Given the description of an element on the screen output the (x, y) to click on. 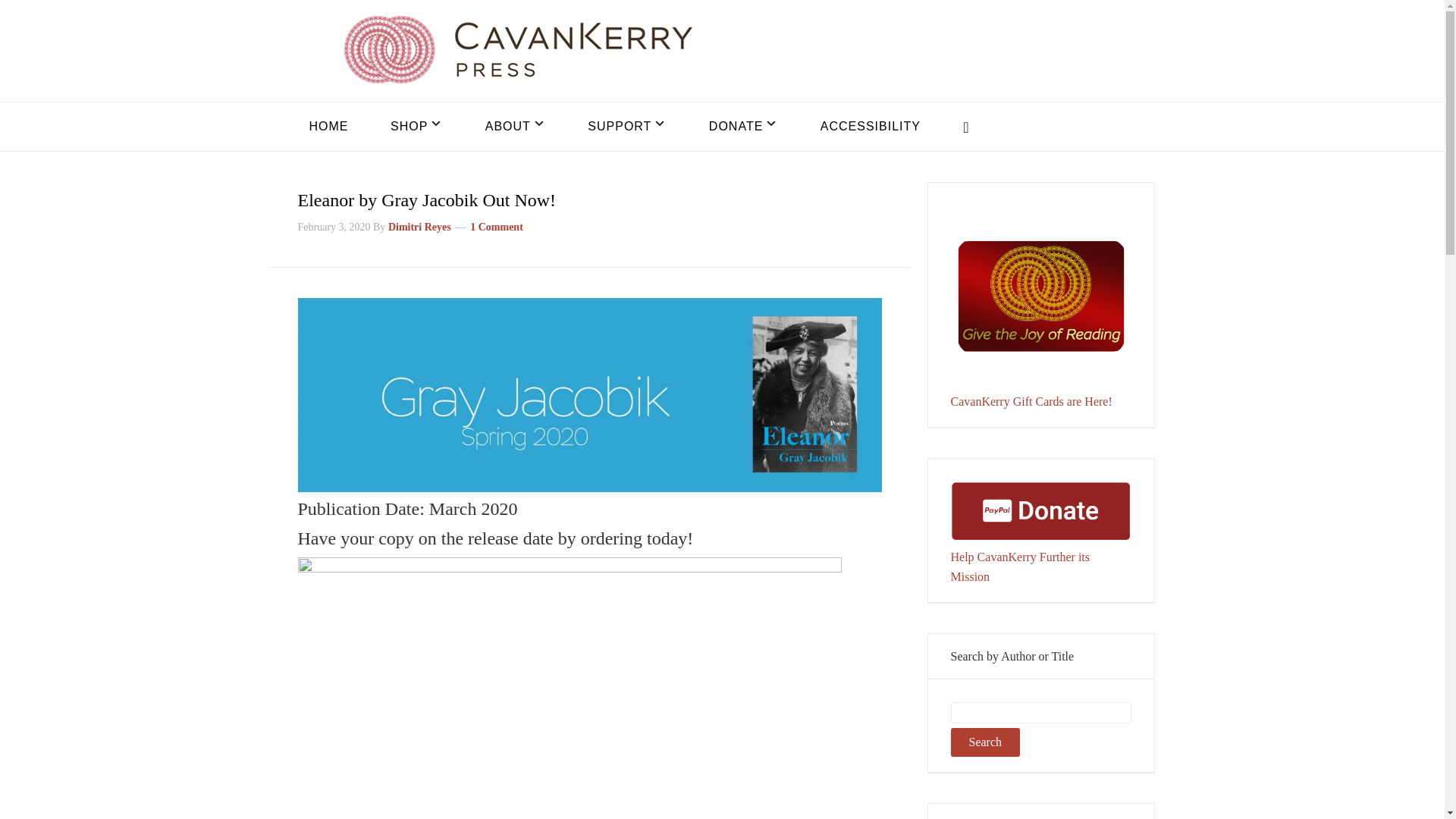
ABOUT (514, 126)
CavanKerry Press (516, 49)
DONATE (743, 126)
ACCESSIBILITY (870, 126)
SUPPORT (627, 126)
SHOP (416, 126)
HOME (327, 126)
